Given the description of an element on the screen output the (x, y) to click on. 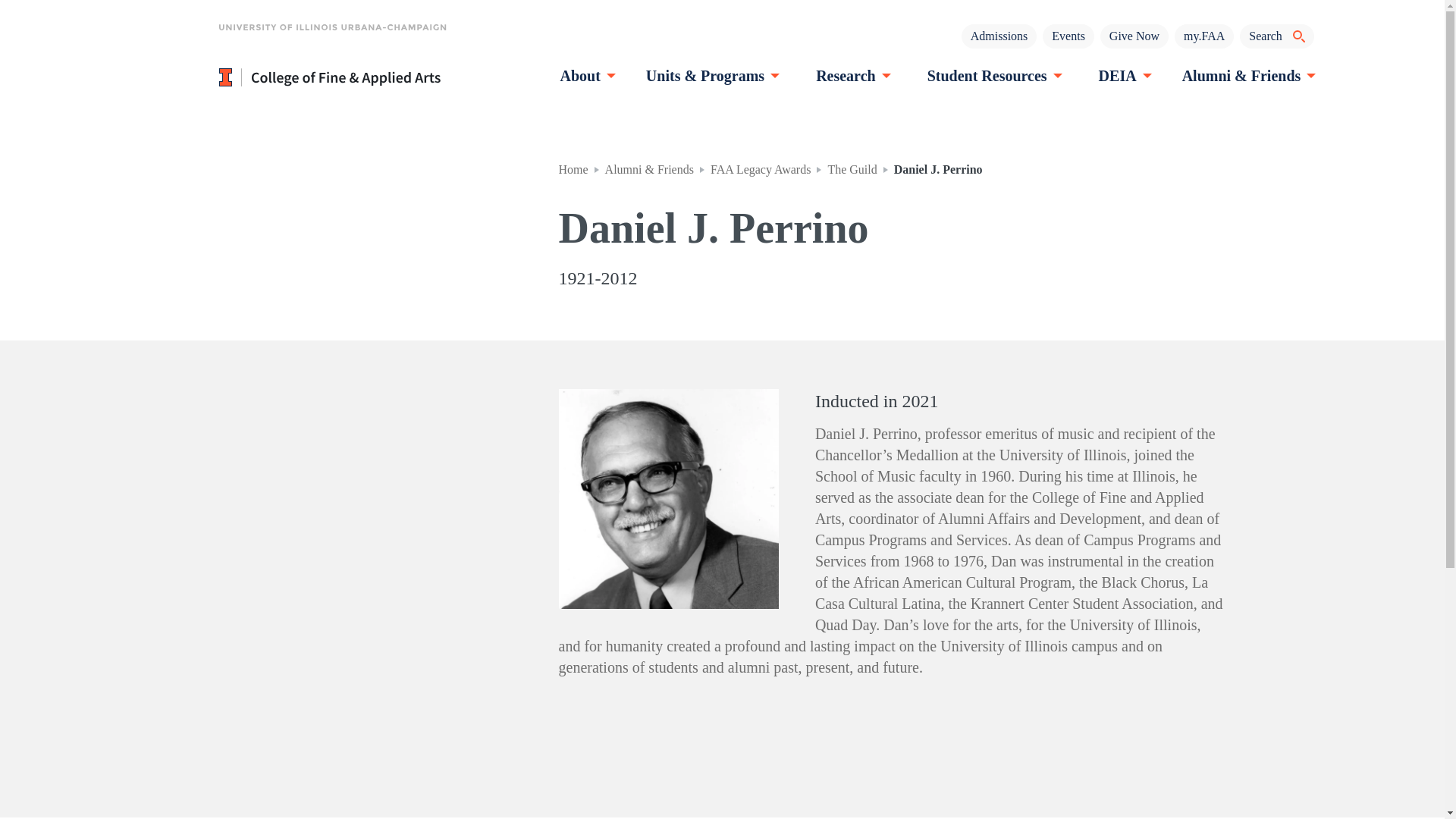
my.FAA (1203, 36)
Research (851, 75)
Give Now (1134, 36)
Admissions (998, 36)
DEIA (1122, 75)
Student Resources (993, 75)
Events (1068, 36)
About (586, 75)
